Given the description of an element on the screen output the (x, y) to click on. 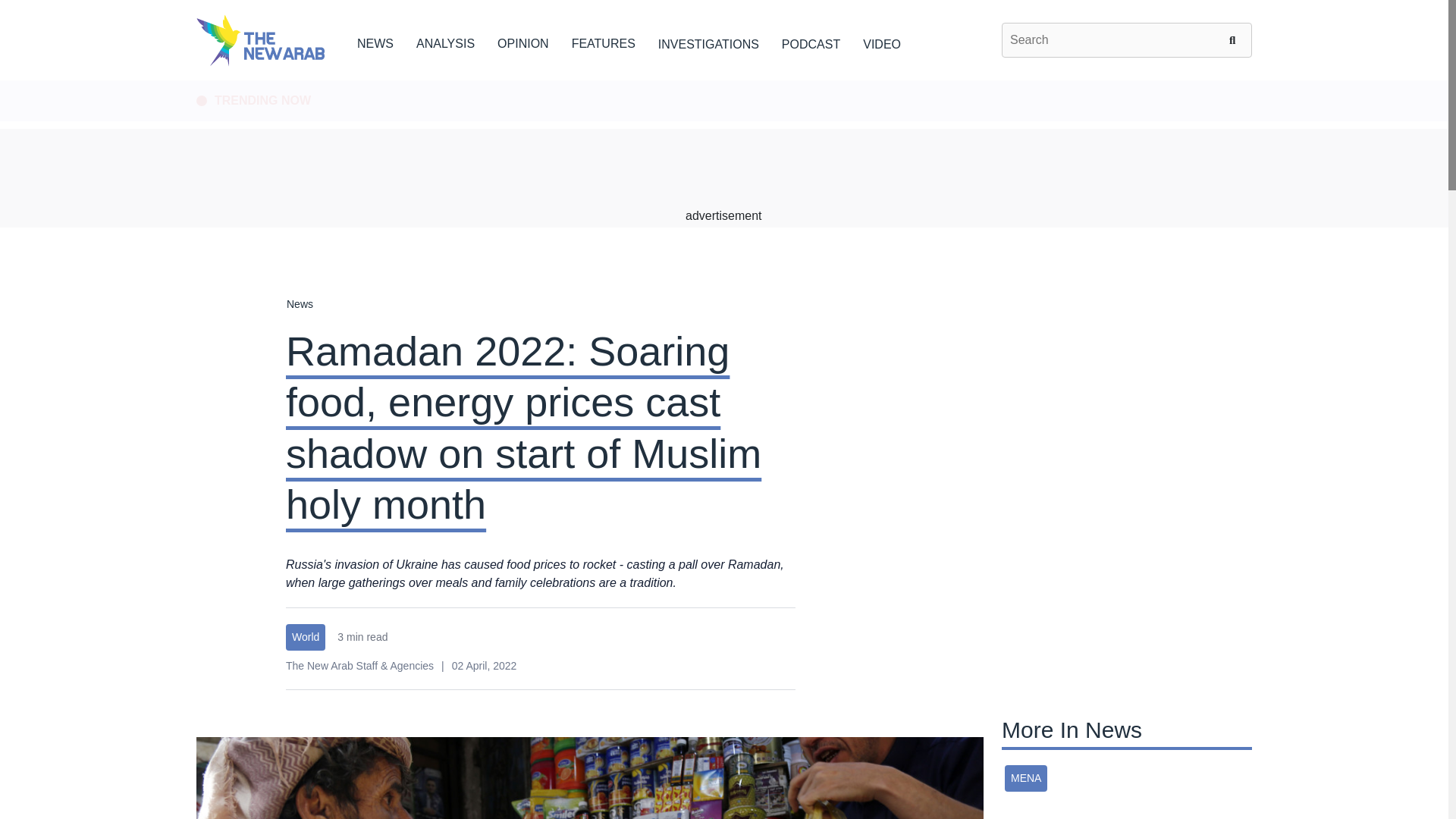
NEWS (375, 41)
Skip to main content (724, 81)
Search (1234, 39)
ANALYSIS (445, 41)
OPINION (523, 41)
